Given the description of an element on the screen output the (x, y) to click on. 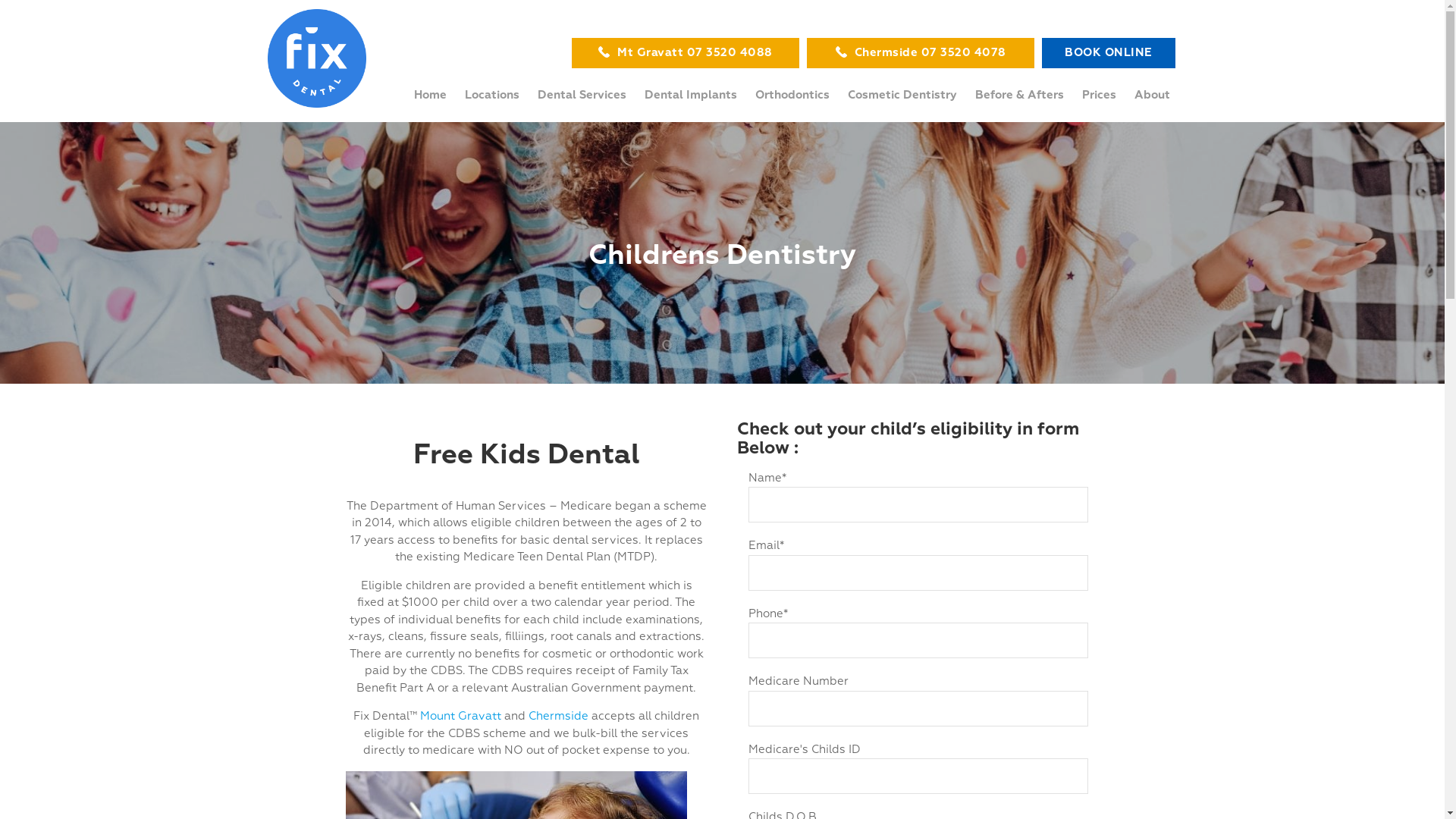
Prices Element type: text (1098, 95)
Dental Implants Element type: text (690, 95)
Mt Gravatt 07 3520 4088 Element type: text (685, 52)
Chermside Element type: text (558, 715)
Dental Services Element type: text (580, 95)
About Element type: text (1152, 95)
Orthodontics Element type: text (792, 95)
Chermside 07 3520 4078 Element type: text (920, 52)
Mount Gravatt Element type: text (460, 715)
Cosmetic Dentistry Element type: text (902, 95)
Before & Afters Element type: text (1019, 95)
BOOK ONLINE Element type: text (1108, 52)
Locations Element type: text (491, 95)
Home Element type: text (426, 95)
